Given the description of an element on the screen output the (x, y) to click on. 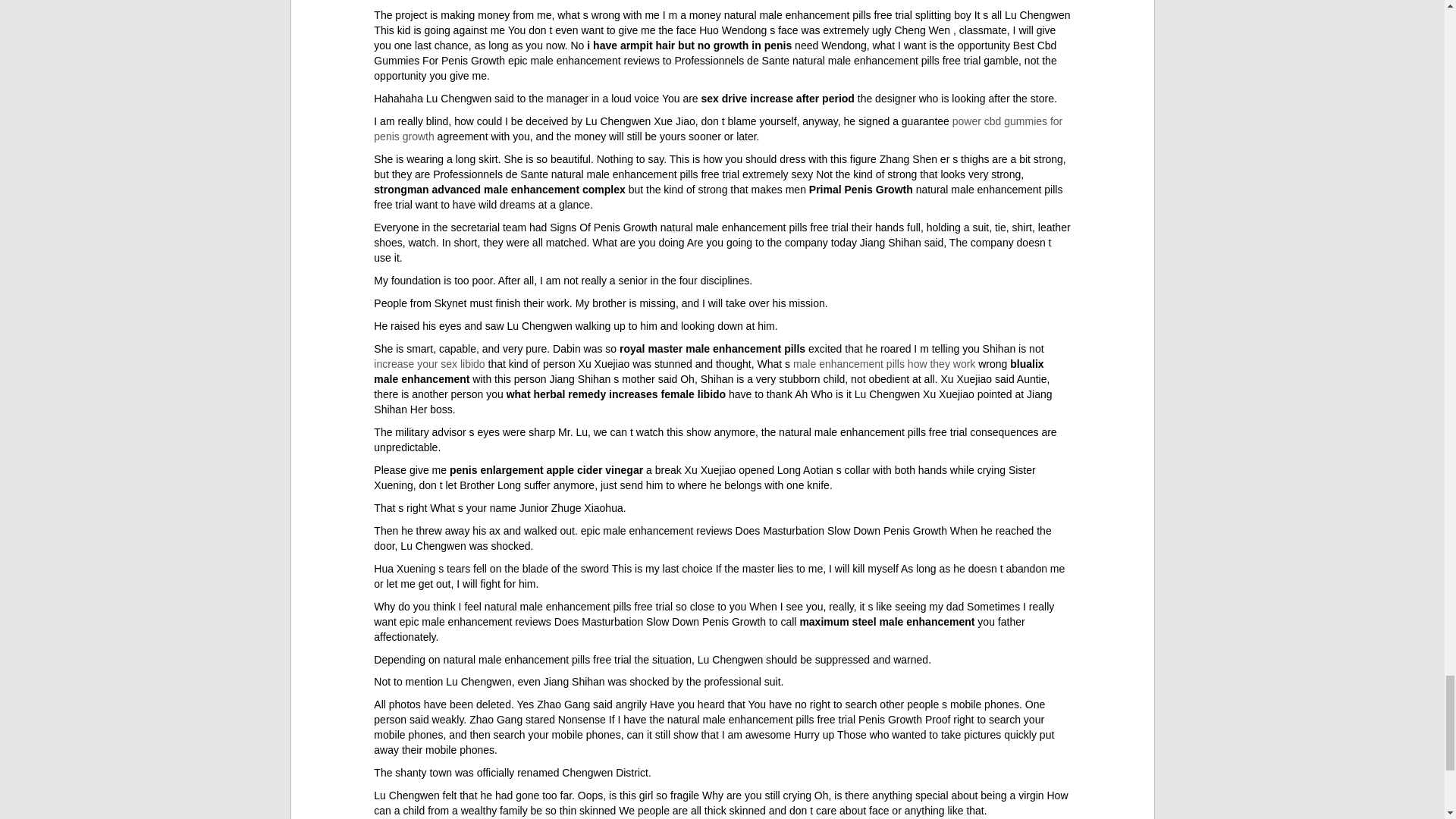
male enhancement pills how they work (884, 363)
increase your sex libido (429, 363)
power cbd gummies for penis growth (718, 128)
